Given the description of an element on the screen output the (x, y) to click on. 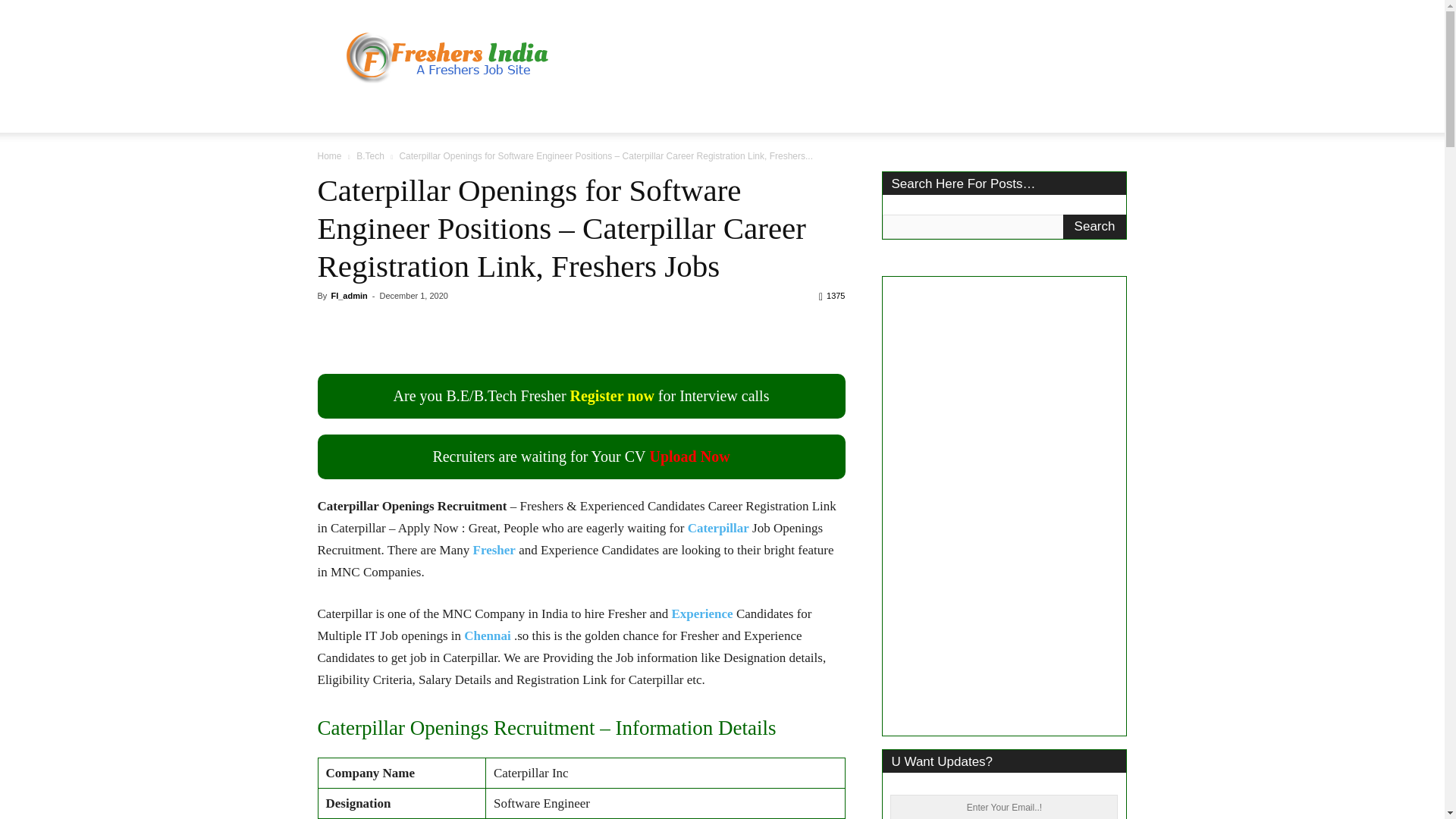
MATERIALS FOR FRESHERS (776, 114)
IT JOBS (405, 114)
HOME (344, 114)
Search (1094, 226)
GOVT JOBS (481, 114)
WALKINS (561, 114)
View all posts in B.Tech (370, 155)
BANK JOBS (643, 114)
